Given the description of an element on the screen output the (x, y) to click on. 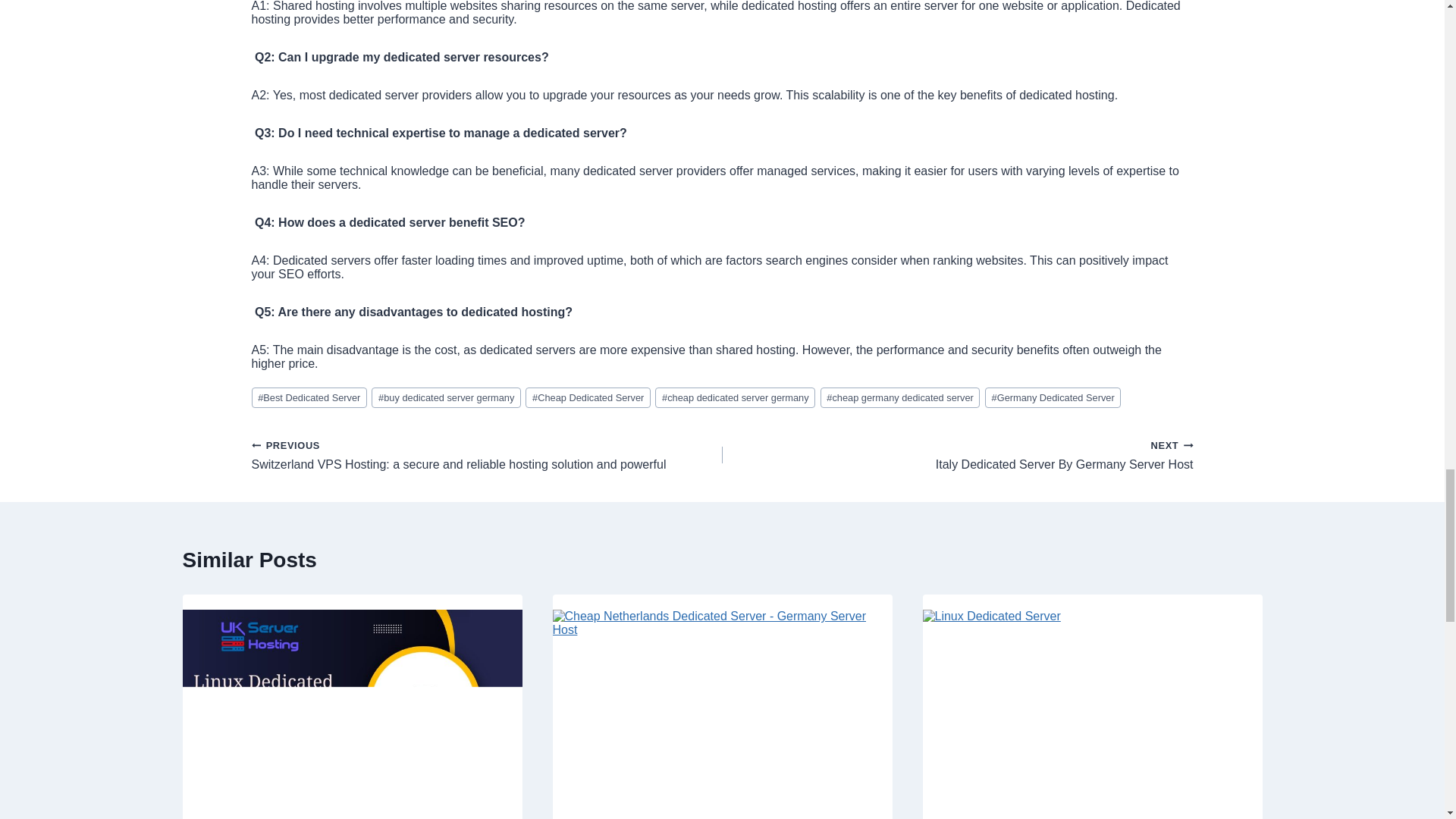
Best Dedicated Server (309, 397)
cheap germany dedicated server (900, 397)
cheap dedicated server germany (735, 397)
buy dedicated server germany (446, 397)
Germany Dedicated Server (1053, 397)
Cheap Dedicated Server (587, 397)
